Given the description of an element on the screen output the (x, y) to click on. 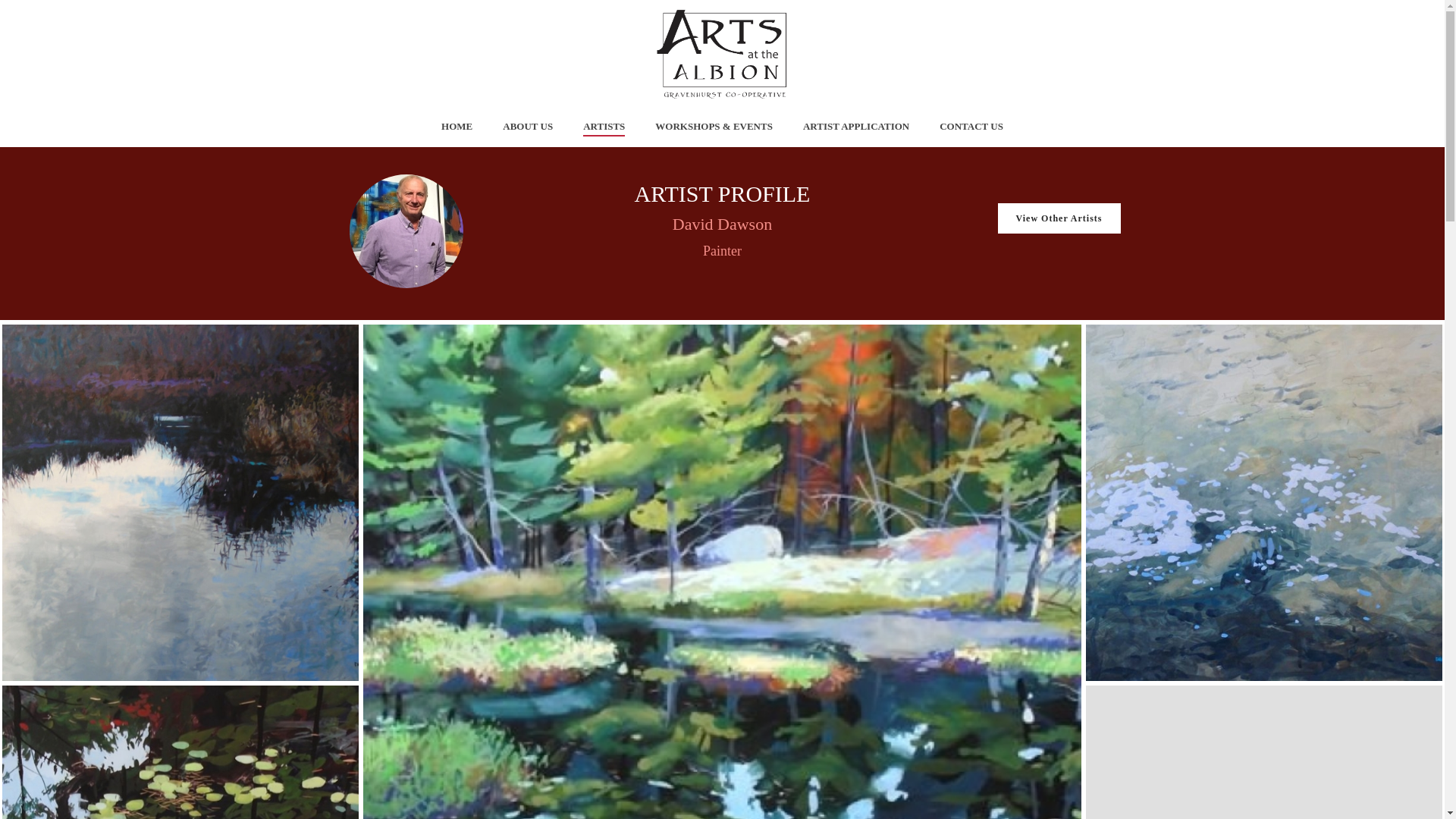
ARTIST APPLICATION (855, 127)
Arts At The Albion (721, 53)
ABOUT US (527, 127)
HOME (456, 127)
David Dawson (1264, 502)
David Dawson (1264, 752)
David Dawson (180, 752)
View Other Artists (1059, 218)
CONTACT US (970, 127)
